Given the description of an element on the screen output the (x, y) to click on. 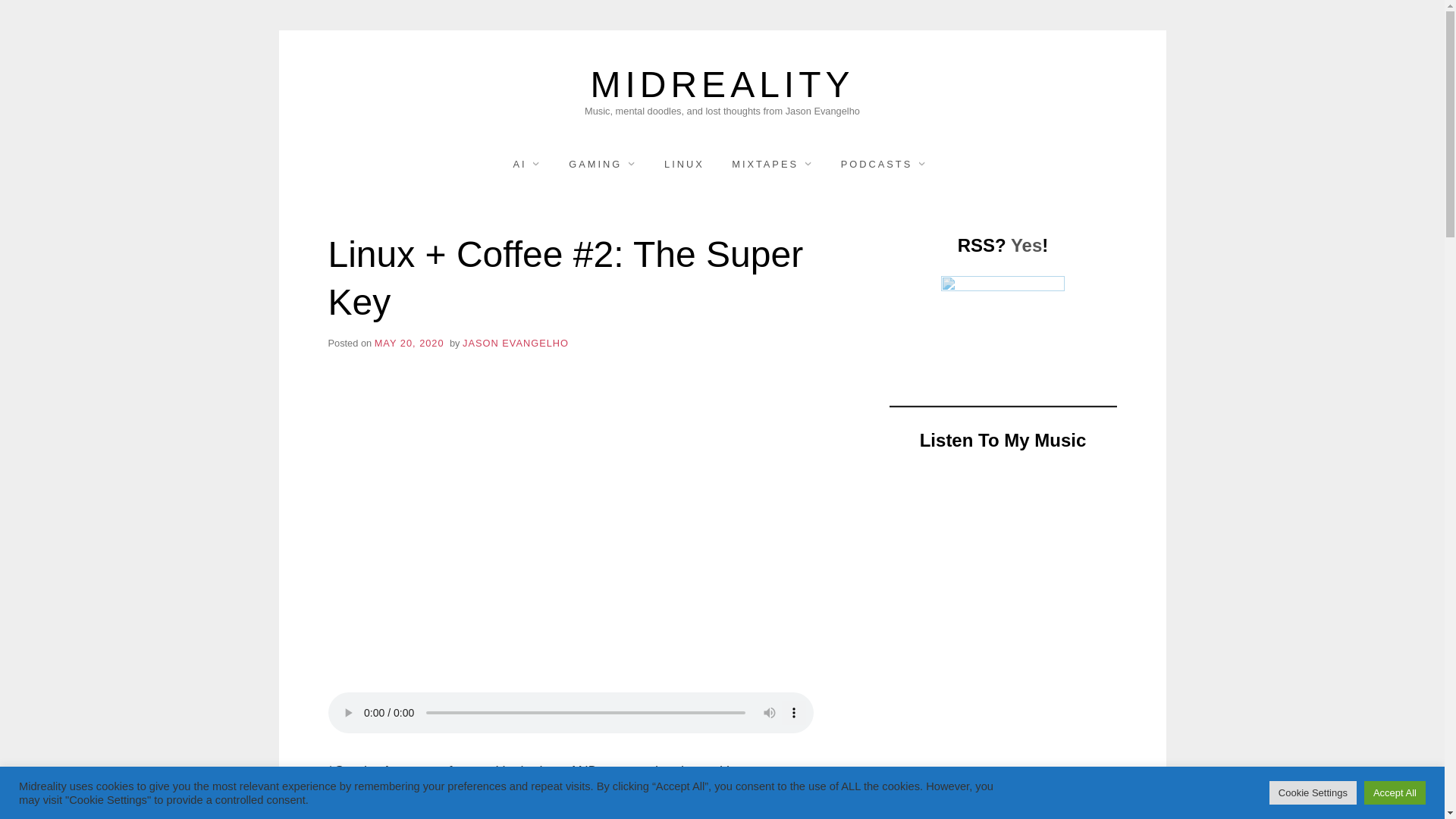
PODCASTS (883, 163)
GAMING (601, 163)
MAY 20, 2020 (409, 342)
LINUX (683, 163)
MIDREALITY (722, 84)
MIXTAPES (772, 163)
JASON EVANGELHO (516, 342)
AI (526, 163)
